Given the description of an element on the screen output the (x, y) to click on. 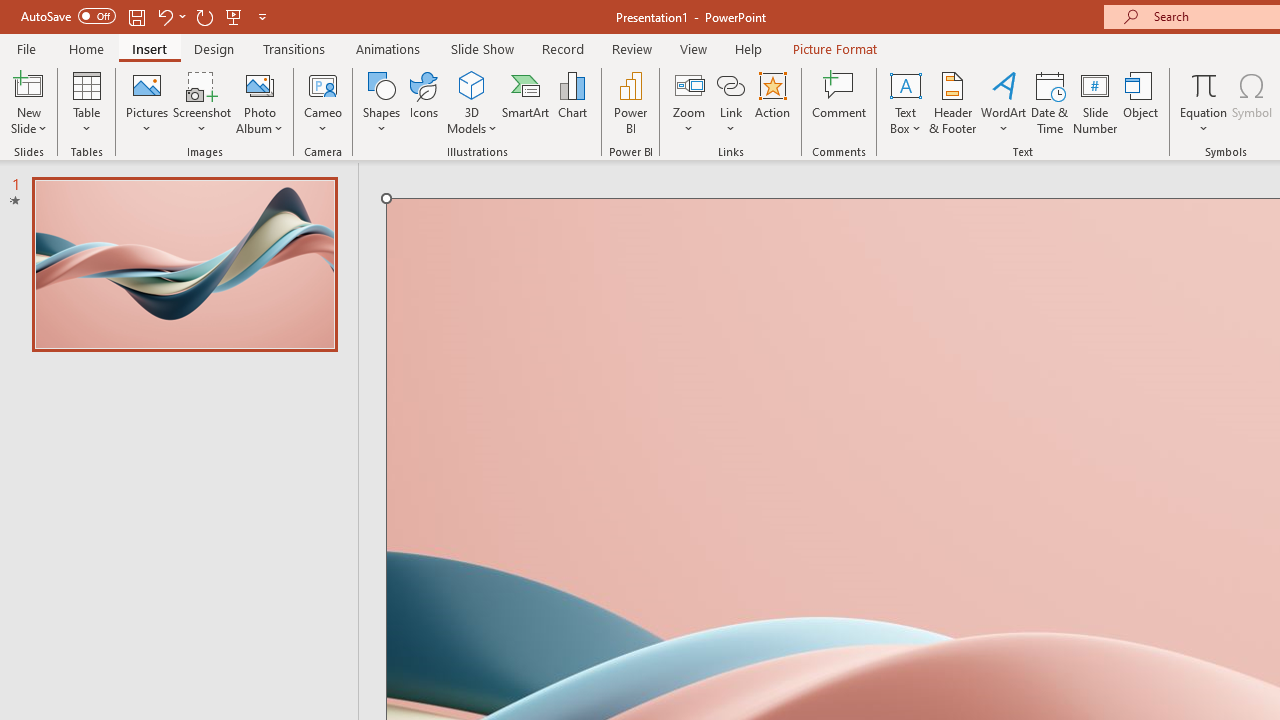
Symbol... (1252, 102)
Link (731, 84)
SmartArt... (525, 102)
Picture Format (834, 48)
Icons (424, 102)
Comment (839, 102)
Table (86, 102)
